Given the description of an element on the screen output the (x, y) to click on. 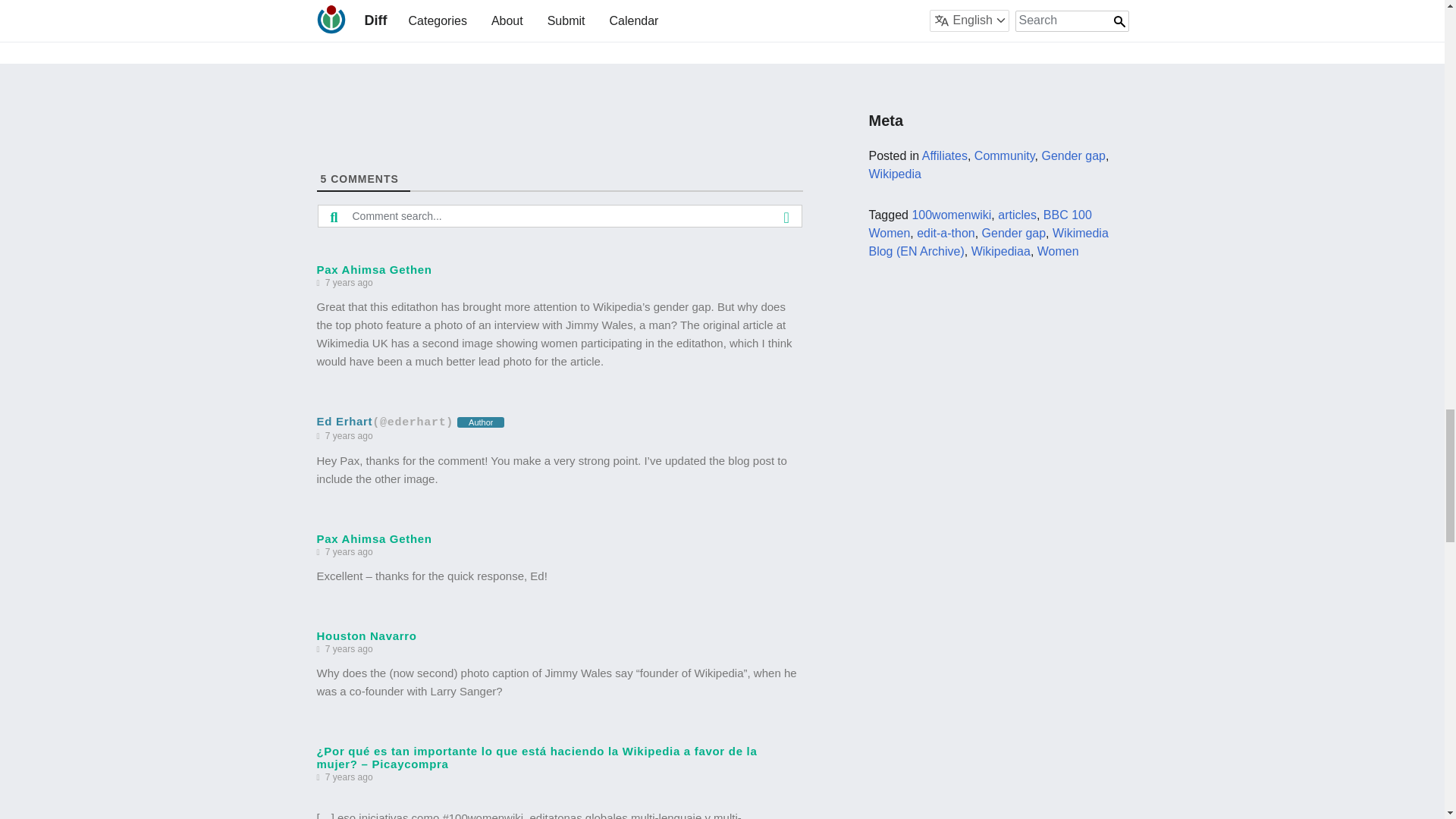
6 January 2017 16:23 (348, 436)
Wikipedia (893, 173)
Affiliates (944, 155)
100womenwiki (951, 214)
Community (1004, 155)
articles (1016, 214)
edit-a-thon (946, 232)
Gender gap (1073, 155)
7 January 2017 09:47 (348, 649)
6 January 2017 17:26 (348, 552)
